Given the description of an element on the screen output the (x, y) to click on. 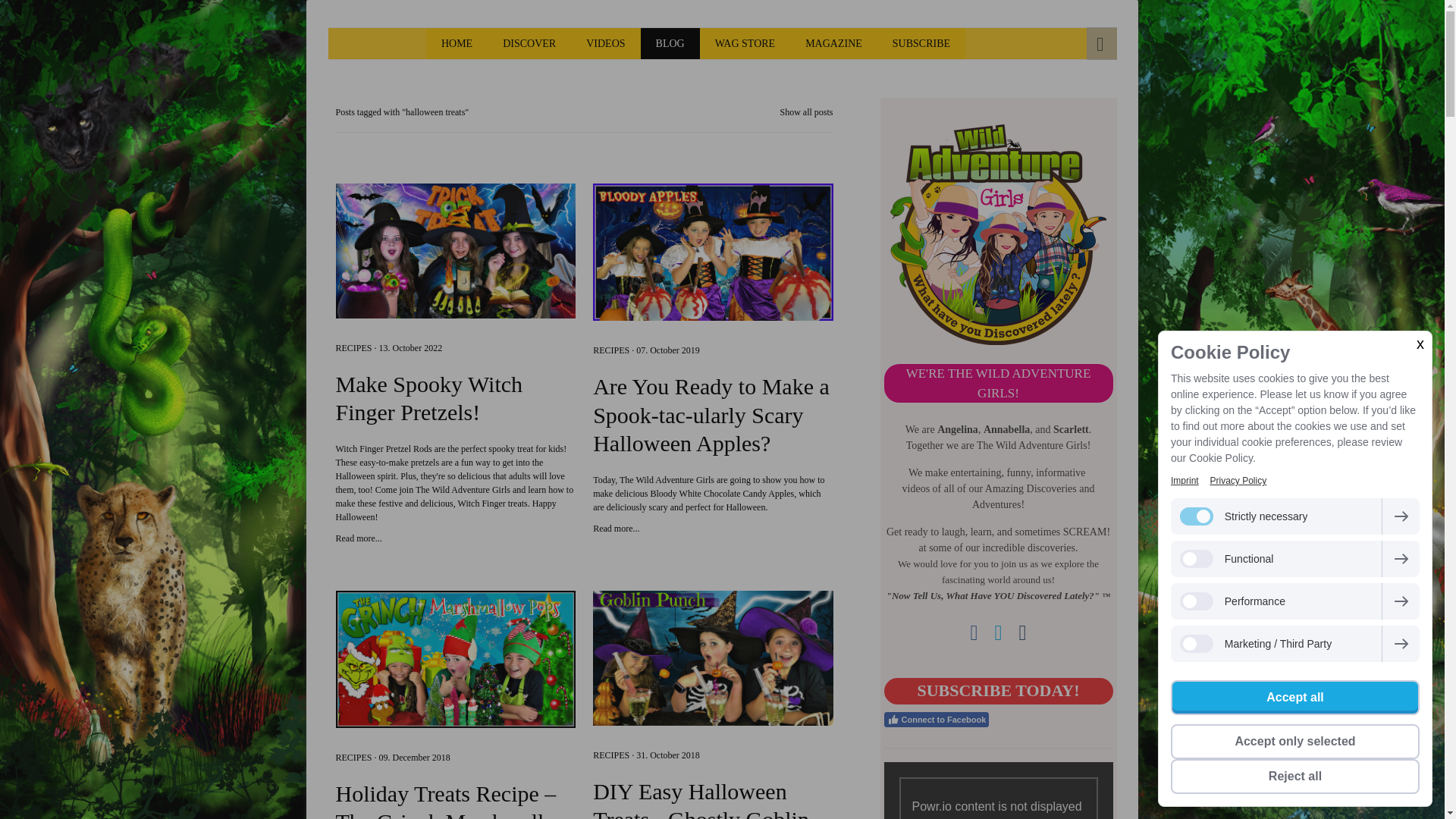
WAG STORE (745, 42)
DIY Easy Halloween Treats - Ghostly Goblin Punch (712, 798)
Facebook (973, 632)
BLOG (670, 42)
DISCOVER (528, 42)
HOME (456, 42)
SUBSCRIBE (921, 42)
Make Spooky Witch Finger Pretzels! (357, 538)
Email (1021, 632)
MAGAZINE (833, 42)
Twitter (998, 632)
VIDEOS (605, 42)
Make Spooky Witch Finger Pretzels! (454, 398)
